Given the description of an element on the screen output the (x, y) to click on. 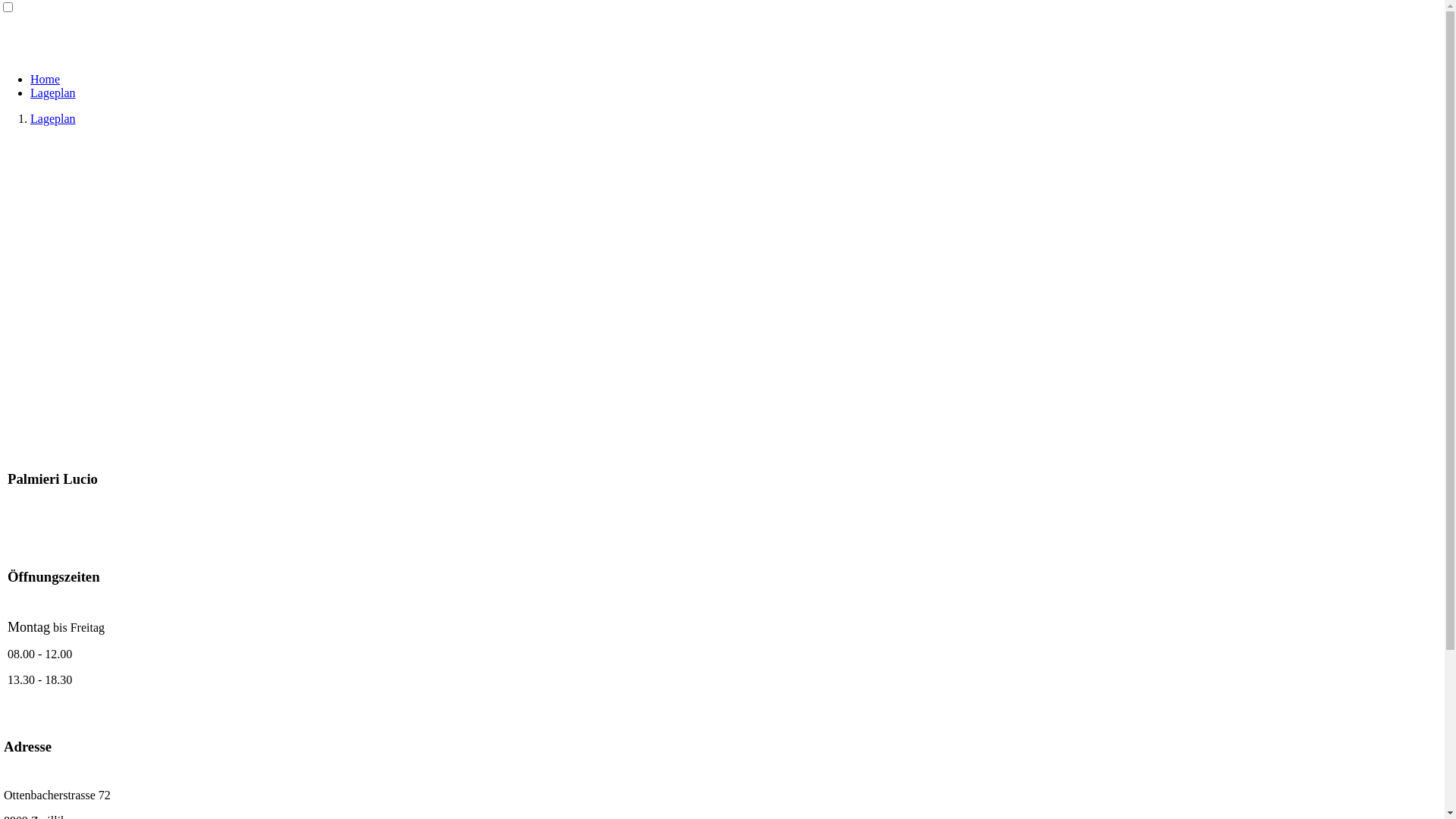
Lageplan Element type: text (52, 118)
Lageplan Element type: text (52, 92)
Home Element type: text (44, 78)
